Given the description of an element on the screen output the (x, y) to click on. 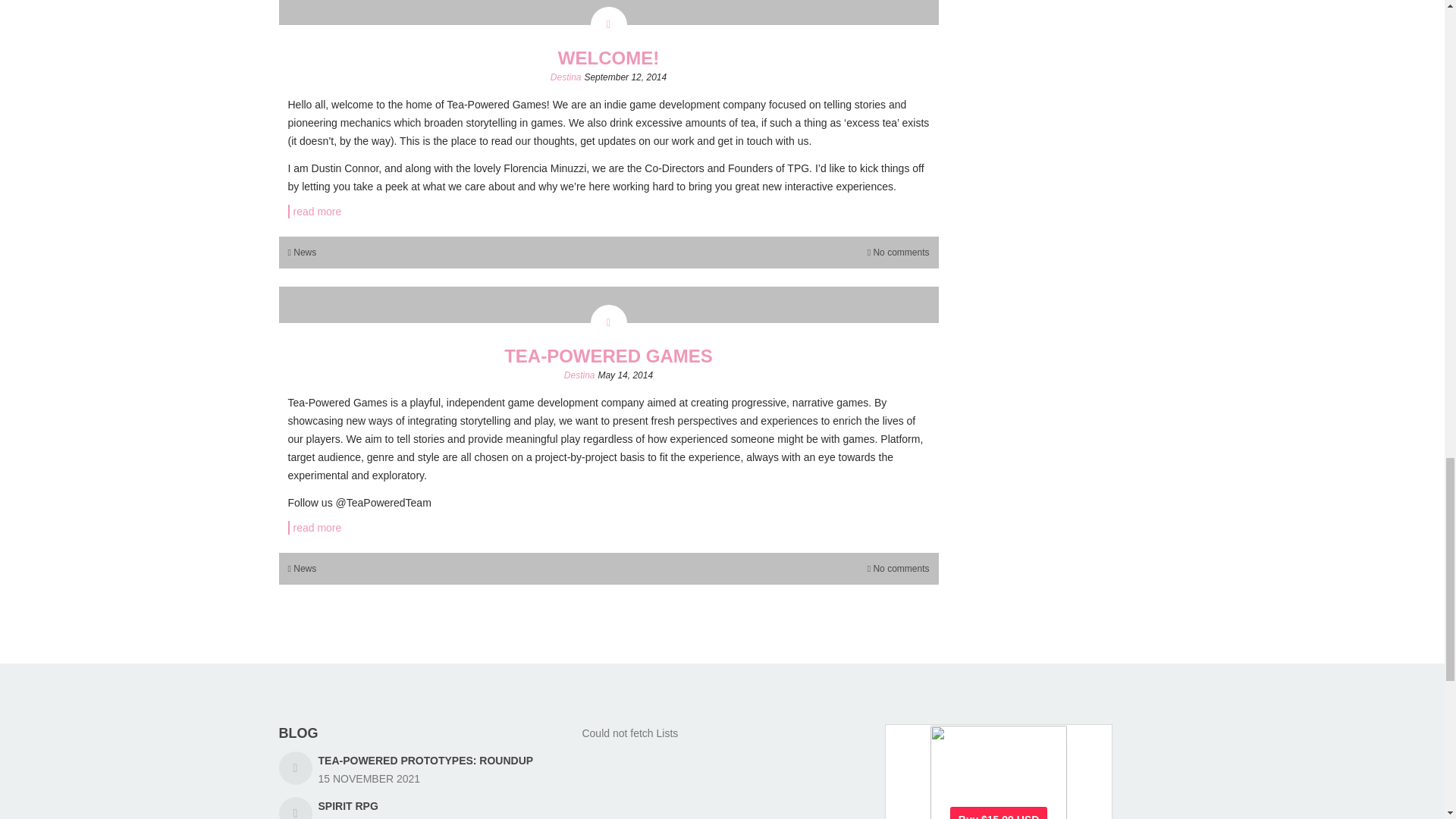
WELCOME! (608, 57)
Tea-Powered Prototypes: Roundup (426, 760)
Destina (565, 77)
News (304, 568)
read more (609, 211)
No comments (900, 568)
Destina (579, 375)
read more (609, 527)
News (304, 252)
Permalink to Welcome! (608, 57)
